Given the description of an element on the screen output the (x, y) to click on. 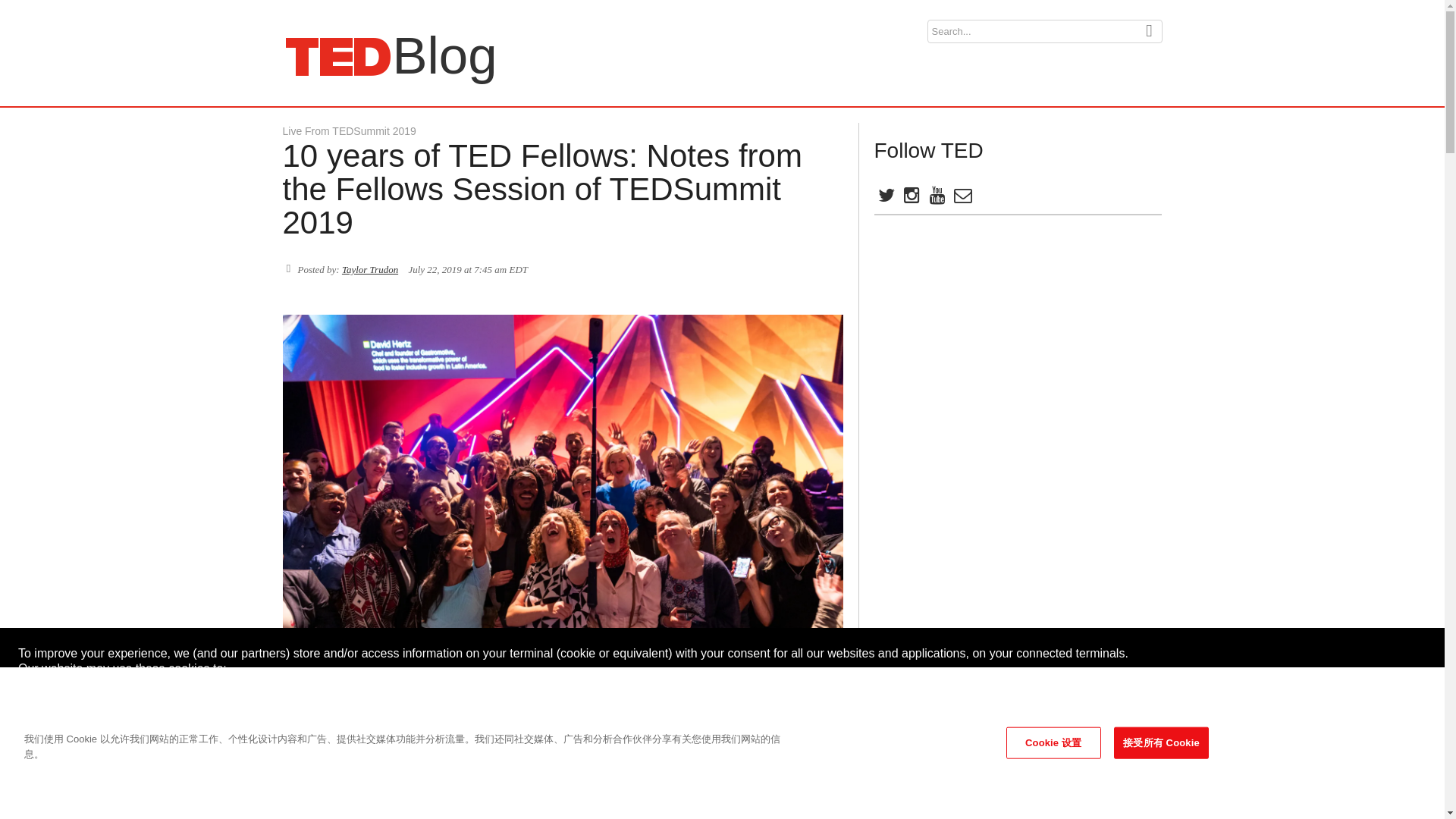
Privacy Policy (55, 789)
Manage Preferences (1309, 691)
TED Blog (337, 56)
Accept All (337, 56)
Live From TEDSummit 2019 (1309, 723)
Subscribe to TED Blog by email (348, 131)
Posts by Taylor Trudon (961, 197)
YouTube (369, 269)
Instagram (935, 197)
